Given the description of an element on the screen output the (x, y) to click on. 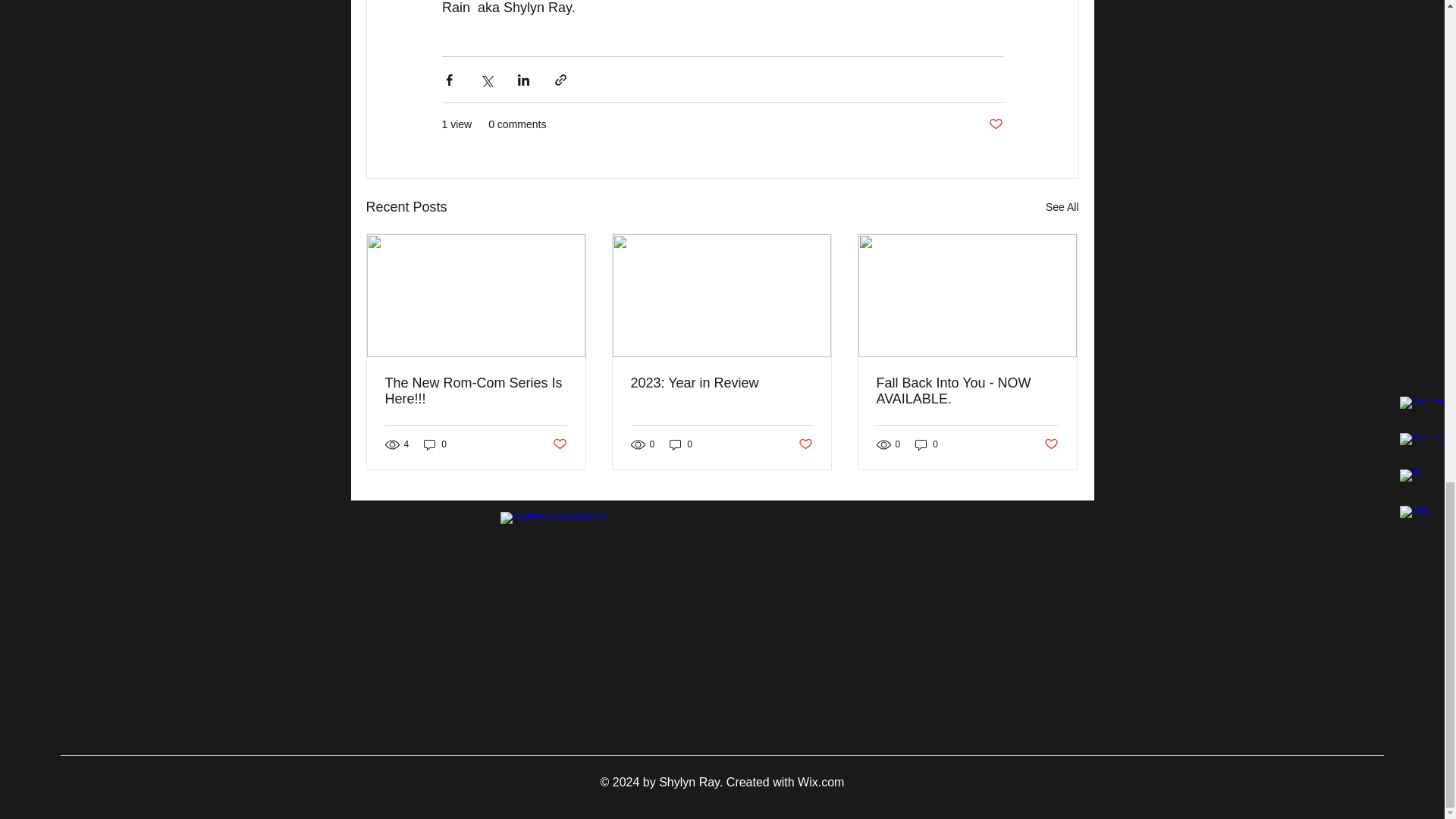
Post not marked as liked (1050, 444)
Post not marked as liked (995, 124)
The New Rom-Com Series Is Here!!! (476, 391)
2023: Year in Review (721, 383)
Post not marked as liked (558, 444)
Wix.com (820, 781)
0 (435, 444)
0 (681, 444)
Fall Back Into You - NOW AVAILABLE. (967, 391)
0 (926, 444)
See All (1061, 207)
Post not marked as liked (804, 444)
